Given the description of an element on the screen output the (x, y) to click on. 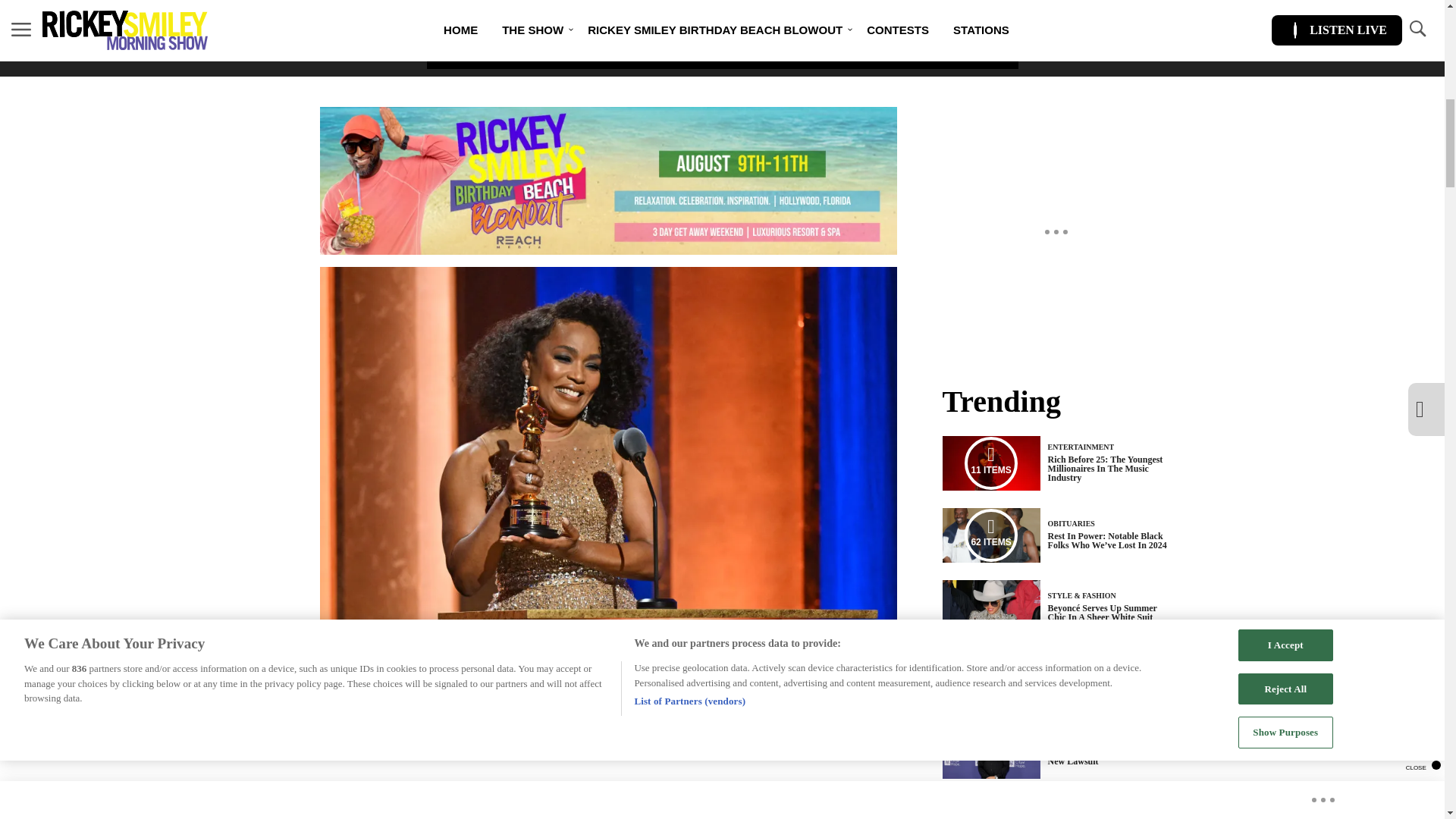
Media Playlist (990, 534)
Media Playlist (990, 678)
Media Playlist (990, 462)
